Given the description of an element on the screen output the (x, y) to click on. 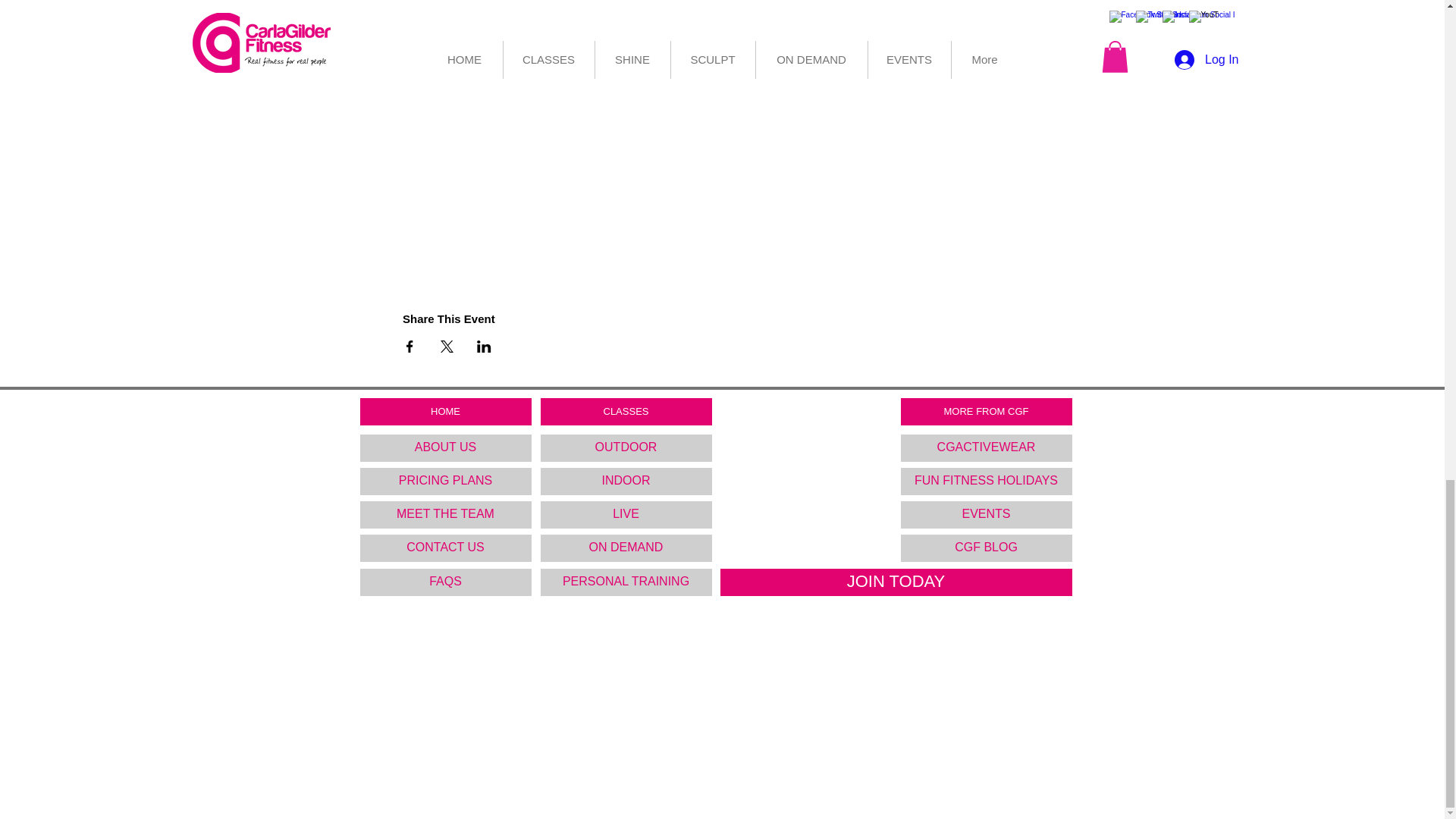
CGF BLOG (986, 547)
HOME (445, 411)
MEET THE TEAM (445, 514)
LIVE (625, 514)
OUTDOOR (625, 447)
ABOUT US (445, 447)
INDOOR (625, 481)
CONTACT US (445, 547)
PERSONAL TRAINING (625, 582)
PRICING PLANS (445, 481)
